Given the description of an element on the screen output the (x, y) to click on. 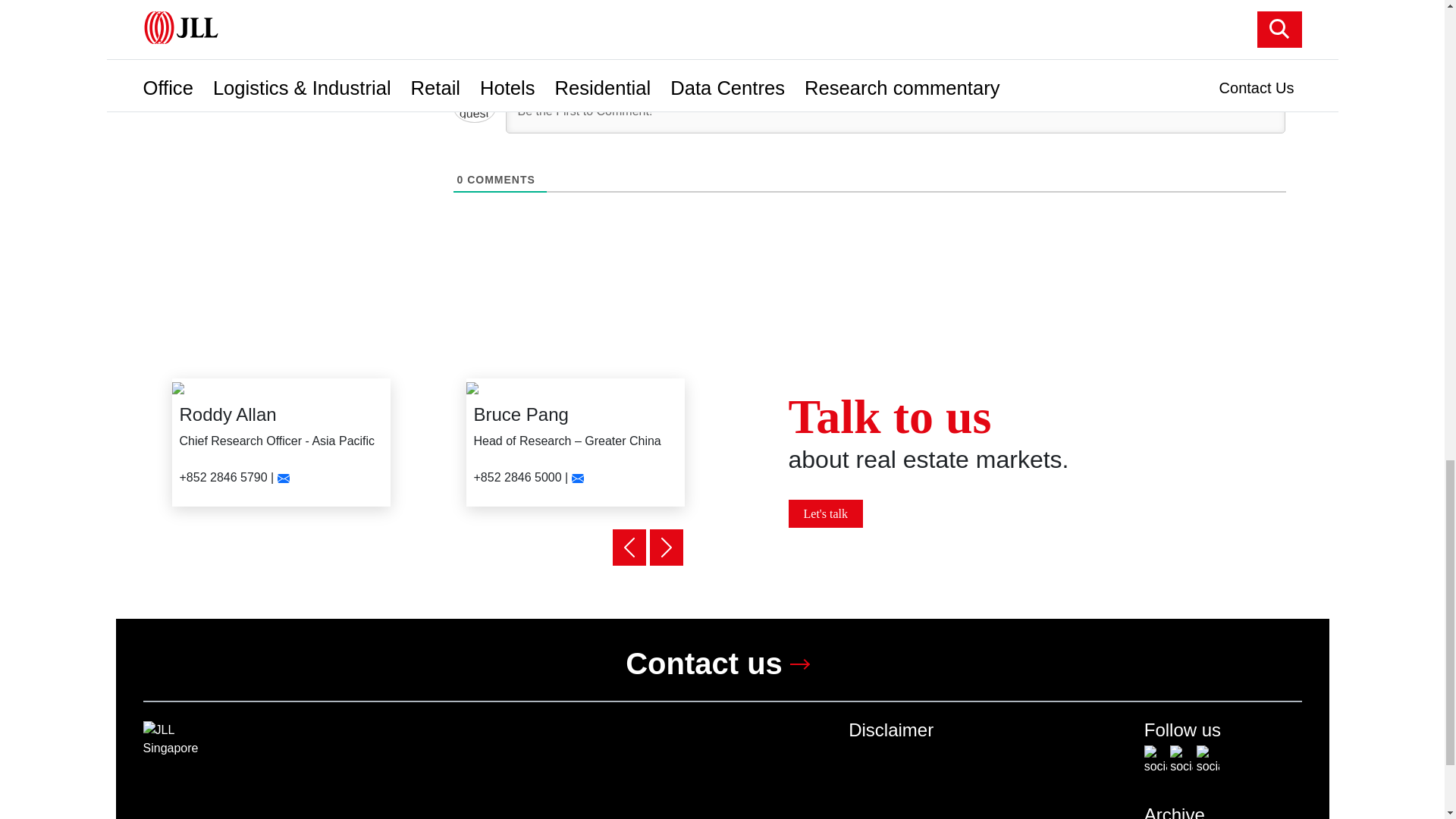
Login (1266, 58)
Let's talk (826, 513)
